Given the description of an element on the screen output the (x, y) to click on. 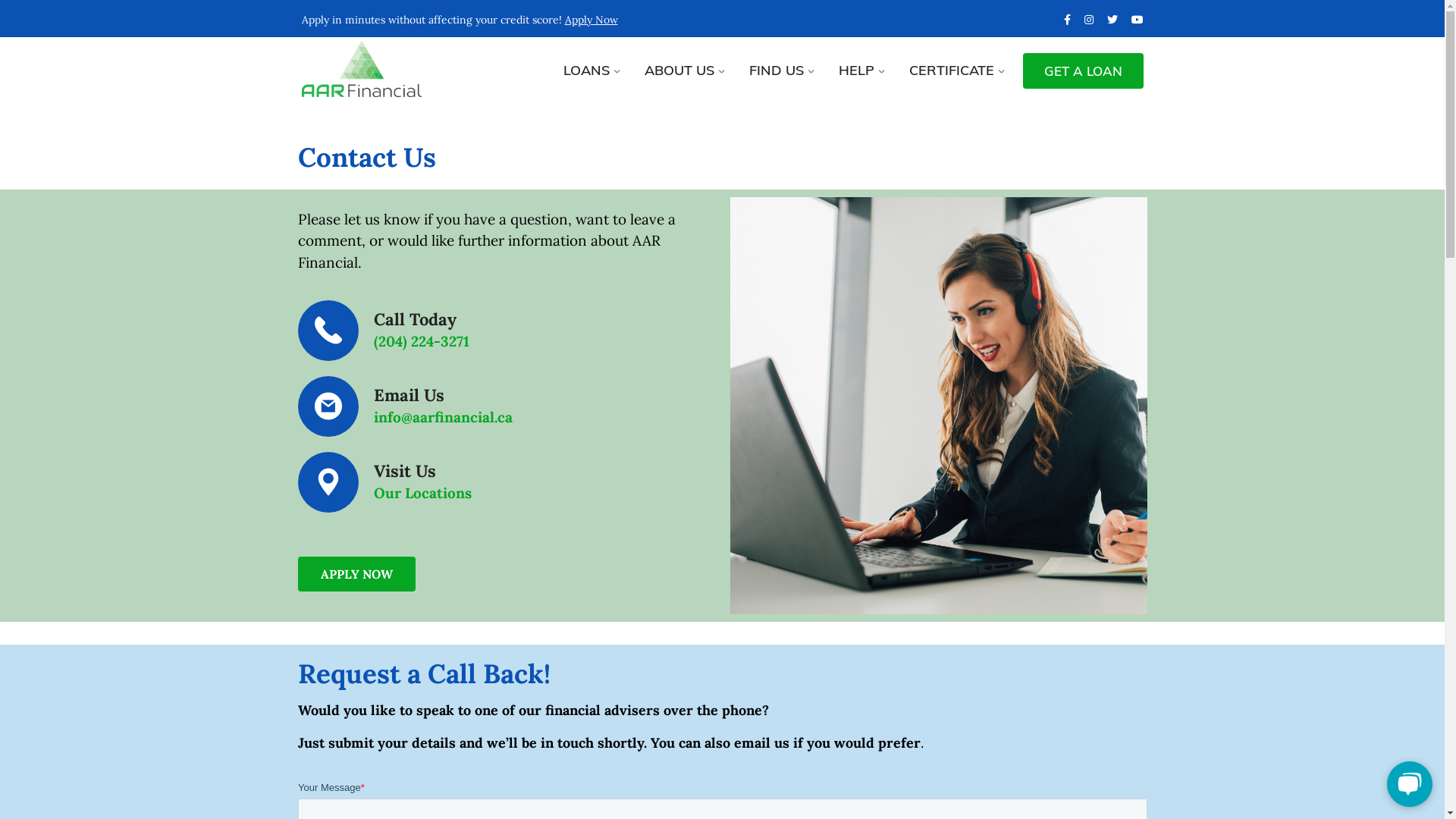
GET A LOAN Element type: text (1082, 71)
FIND US Element type: text (781, 69)
LOANS Element type: text (590, 69)
CERTIFICATE Element type: text (955, 69)
APPLY NOW Element type: text (355, 573)
Apply Now Element type: text (590, 20)
aarfinancial.ca Element type: hover (398, 68)
Facebook Element type: hover (1066, 20)
Twitter Element type: hover (1112, 20)
HELP Element type: text (861, 69)
Instagram Element type: hover (1088, 20)
ABOUT US Element type: text (684, 69)
Youtube Element type: hover (1137, 20)
